Given the description of an element on the screen output the (x, y) to click on. 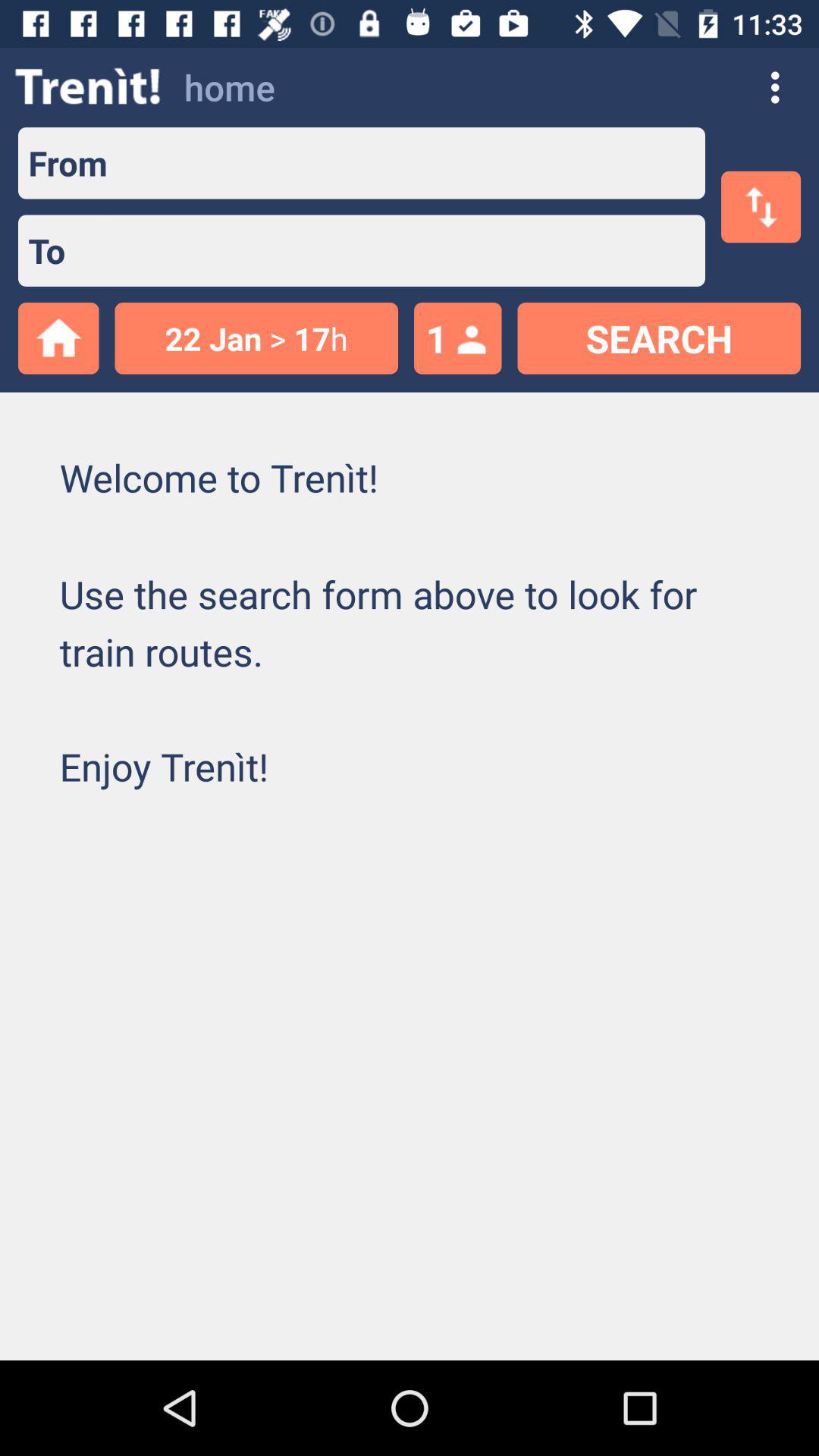
flip until from icon (62, 163)
